Given the description of an element on the screen output the (x, y) to click on. 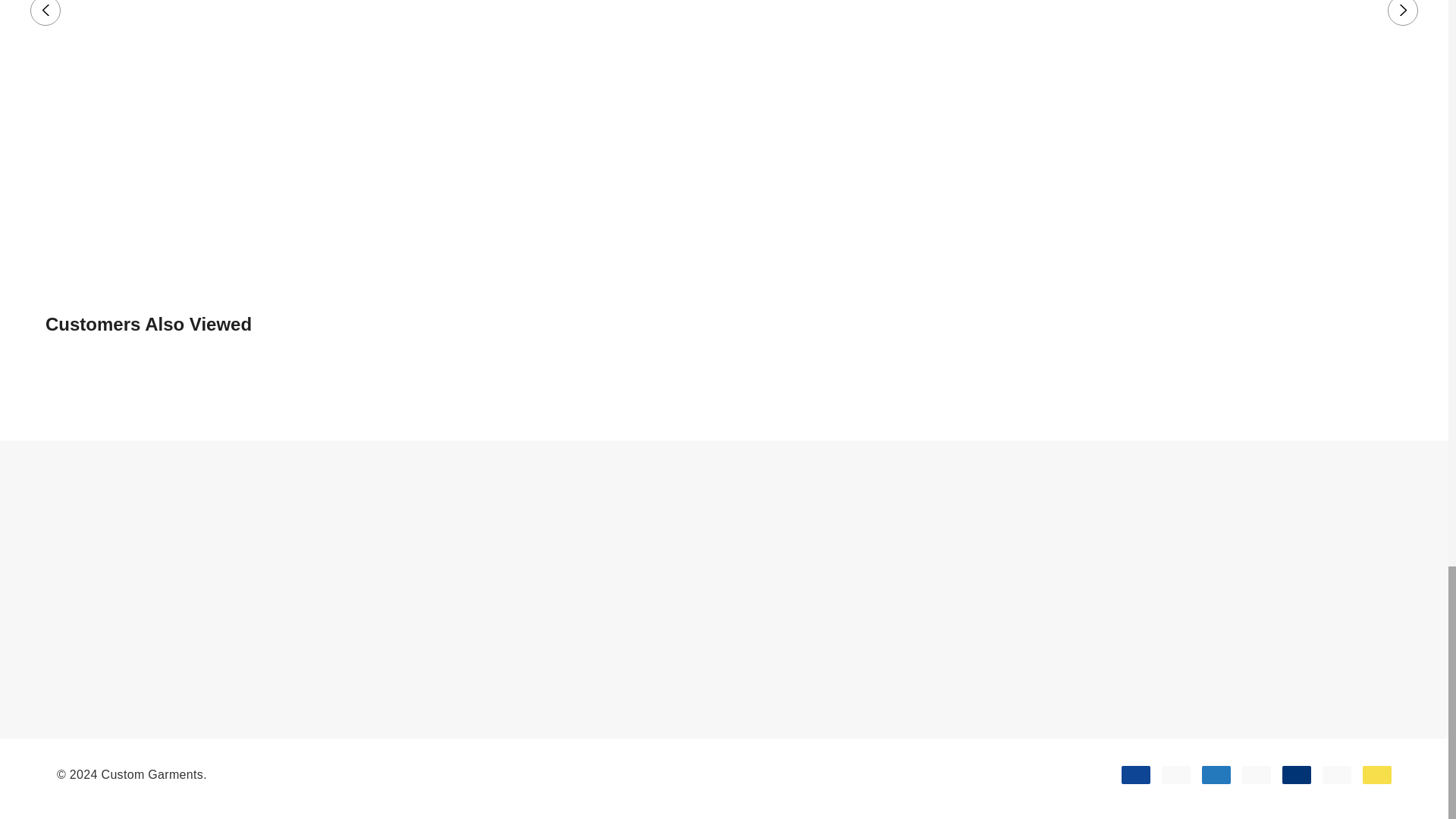
Paypal Paypal (1336, 774)
Visa Visa (1135, 774)
Cirrus Cirrus (1296, 774)
Amex Amex (1216, 774)
Western Union Western Union (1376, 774)
Mastercard Mastercard (1176, 774)
Discover Discover (1256, 774)
